Given the description of an element on the screen output the (x, y) to click on. 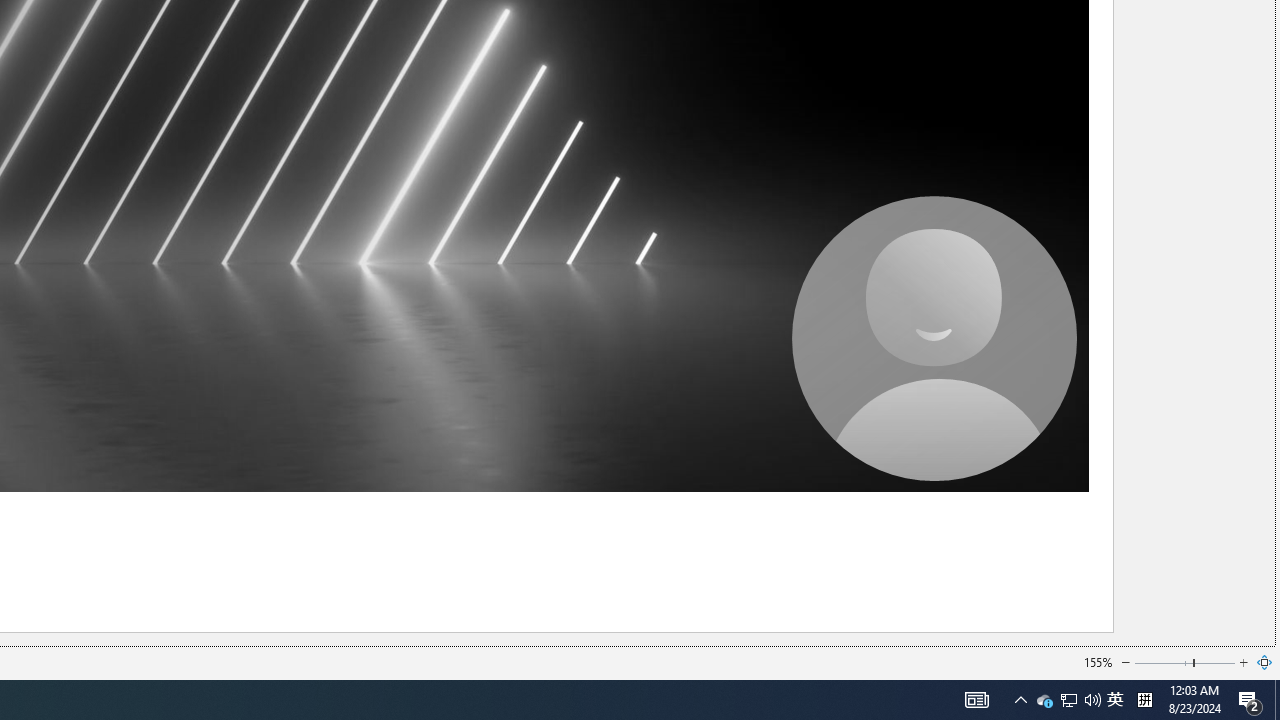
Page left (1163, 662)
155% (1098, 662)
Zoom to Page (1265, 662)
Page right (1215, 662)
